Given the description of an element on the screen output the (x, y) to click on. 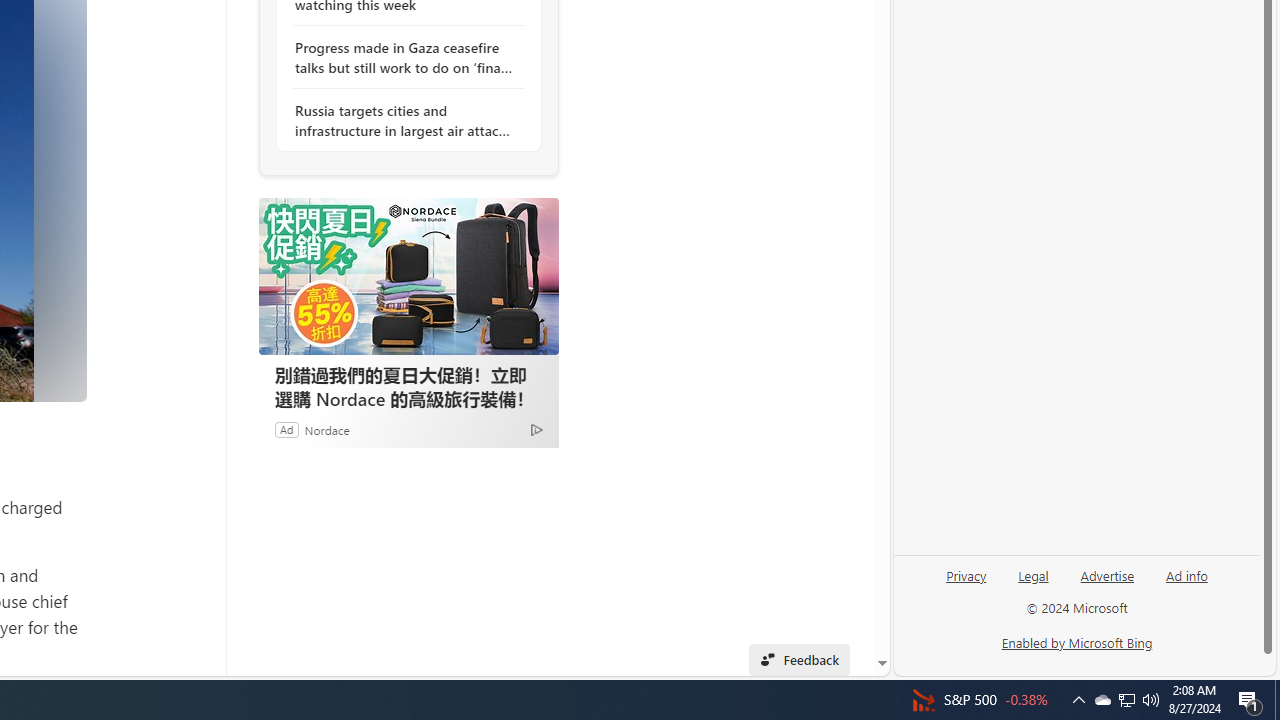
Nordace (326, 429)
Advertise (1107, 574)
